Given the description of an element on the screen output the (x, y) to click on. 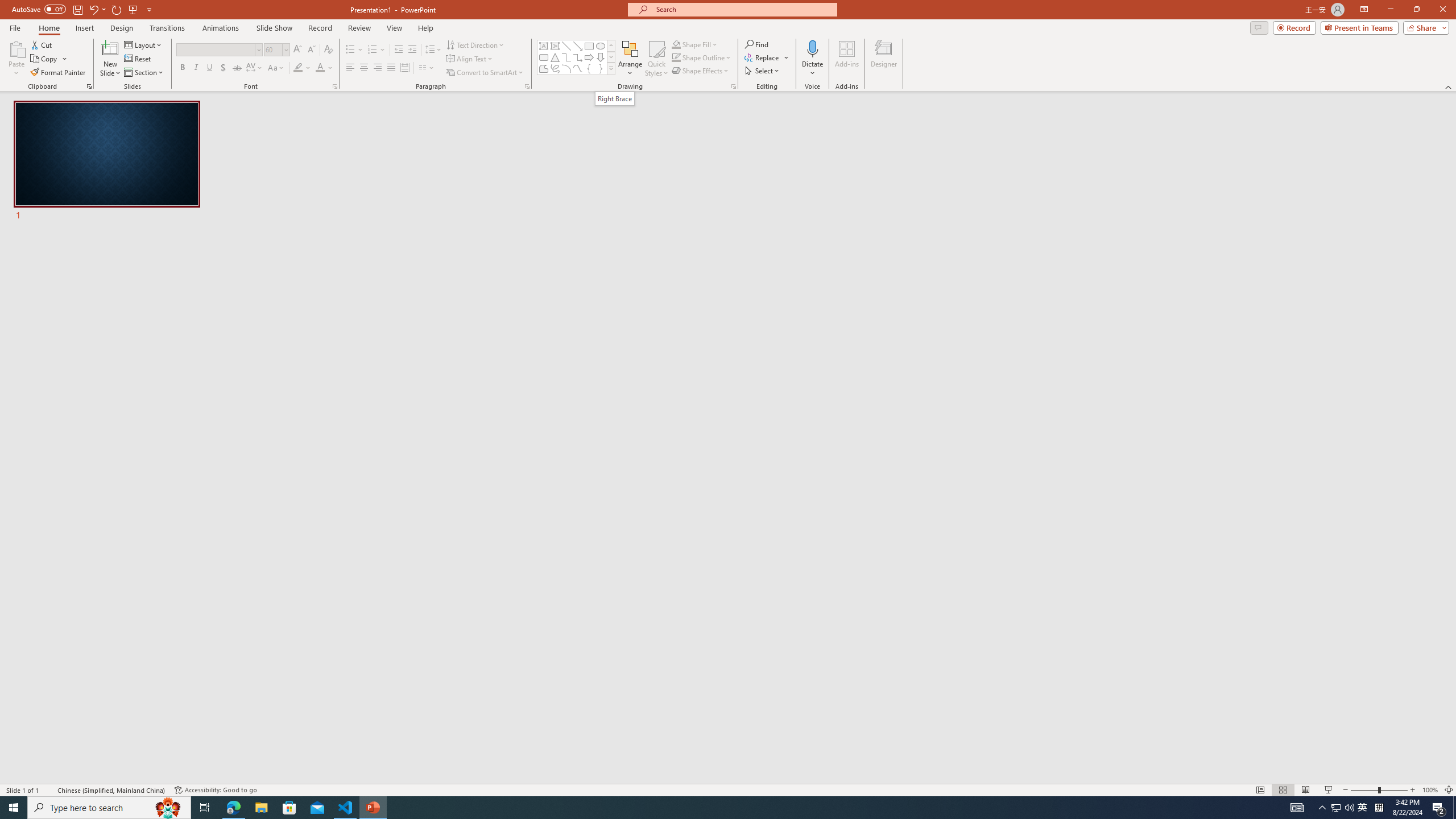
Underline (209, 67)
Spell Check  (49, 790)
Shape Outline Blue, Accent 1 (675, 56)
